Given the description of an element on the screen output the (x, y) to click on. 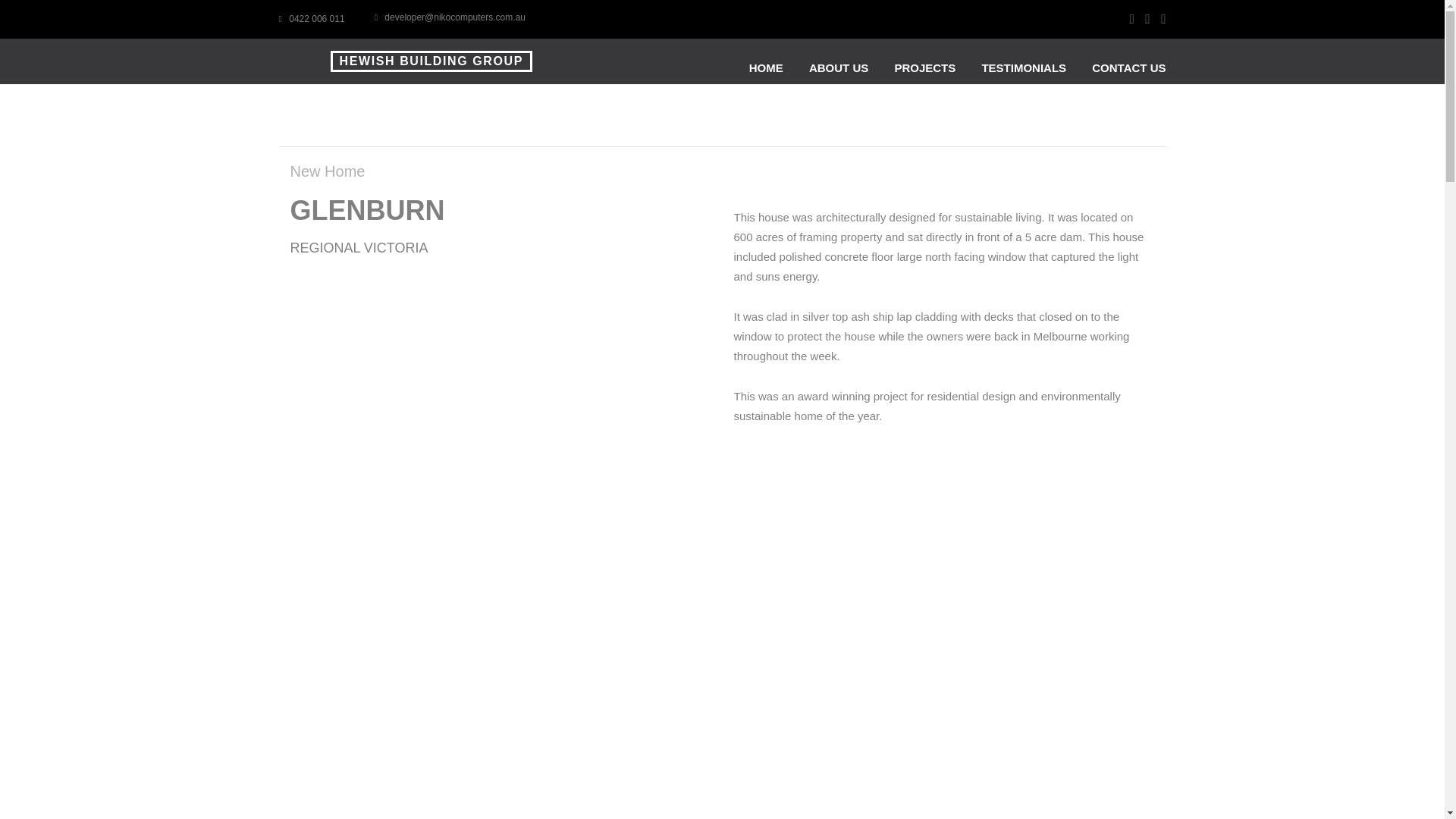
HOME Element type: text (766, 67)
0422 006 011 Element type: text (312, 18)
developer@nikocomputers.com.au Element type: text (449, 17)
PROJECTS Element type: text (924, 67)
CONTACT US Element type: text (1128, 67)
TESTIMONIALS Element type: text (1023, 67)
ABOUT US Element type: text (838, 67)
